Given the description of an element on the screen output the (x, y) to click on. 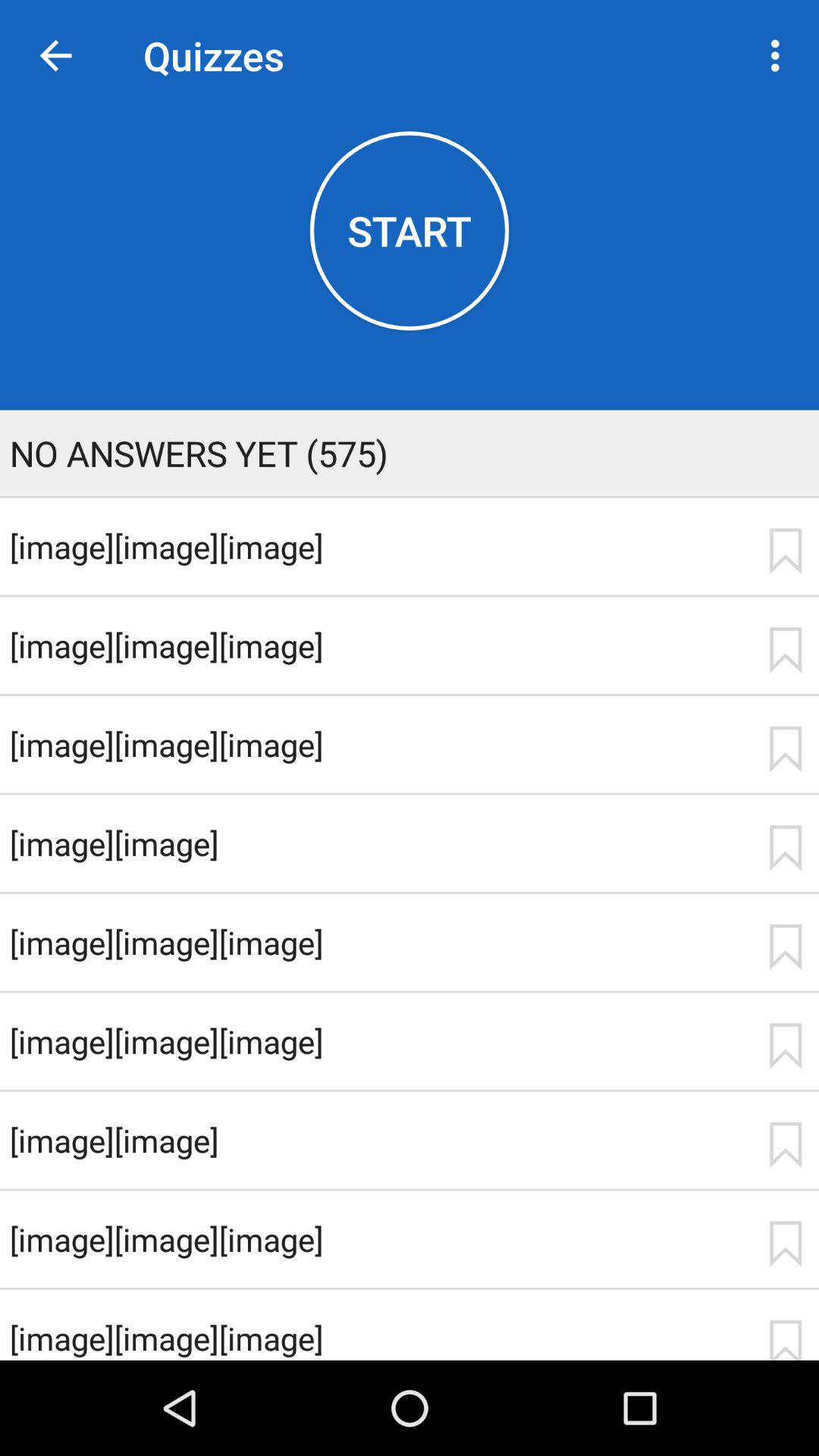
add bookmark (784, 848)
